Given the description of an element on the screen output the (x, y) to click on. 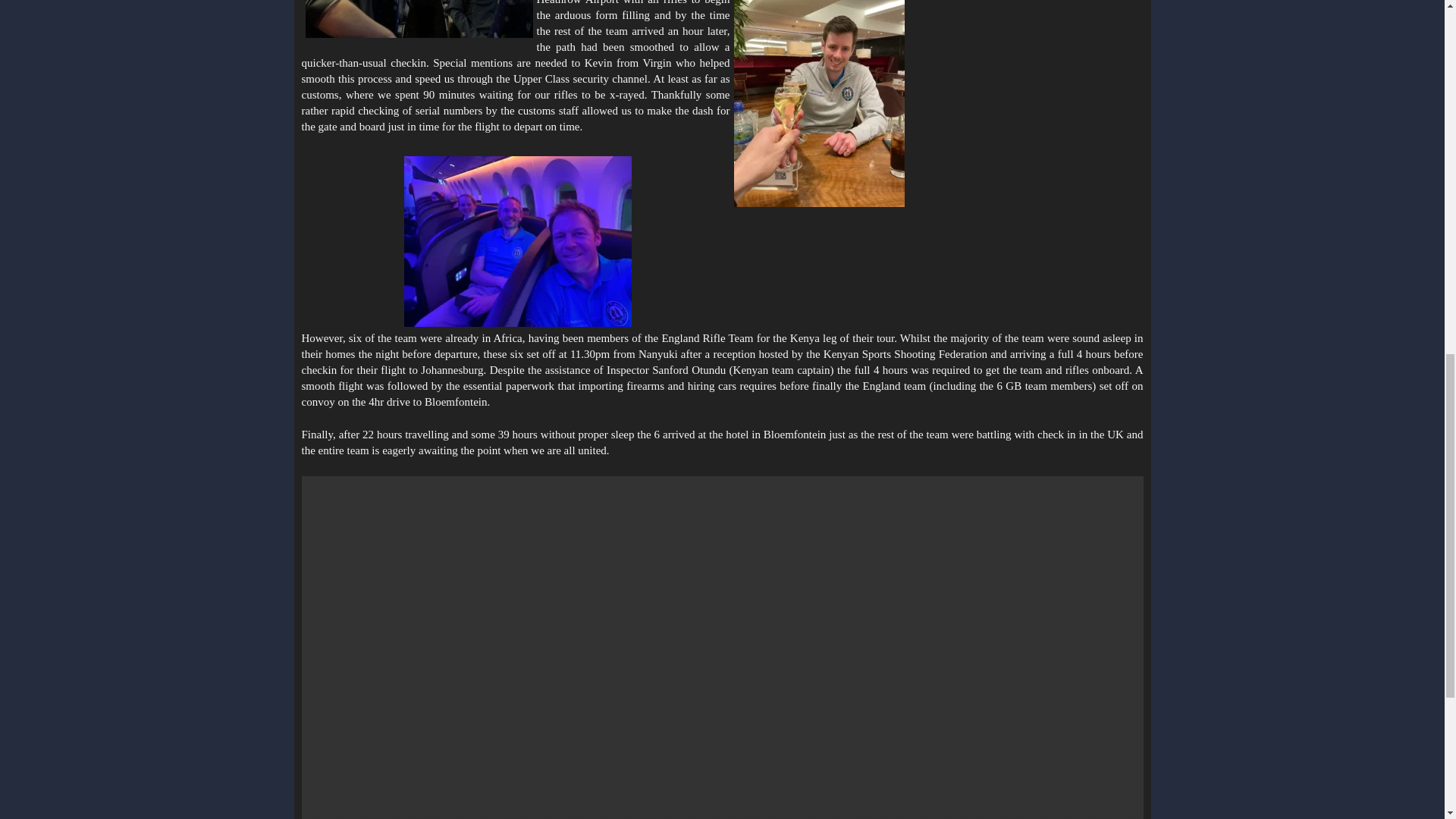
2be55160-792b-4c9a-a492-b724c7ceb01a (418, 18)
Scroll back to top (1406, 720)
